Given the description of an element on the screen output the (x, y) to click on. 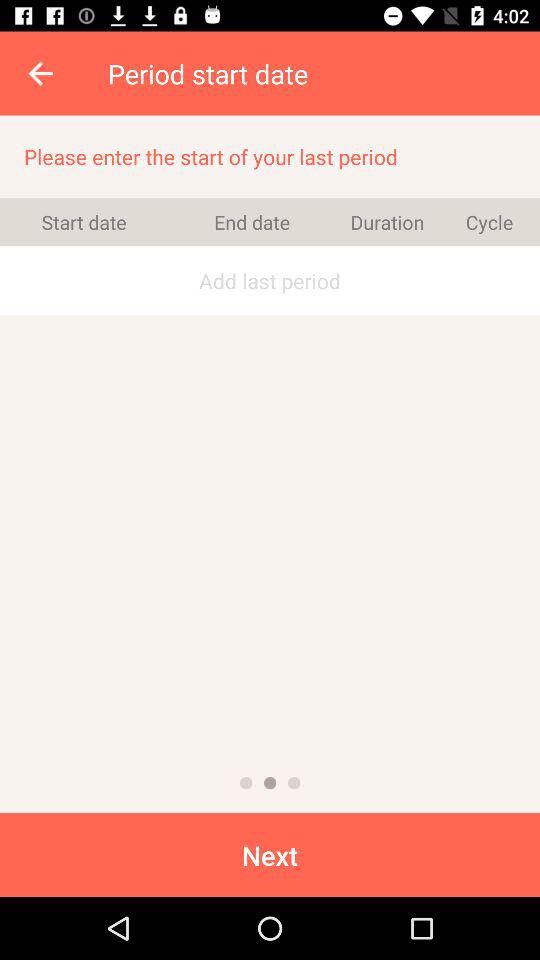
turn off the icon above next (270, 782)
